Given the description of an element on the screen output the (x, y) to click on. 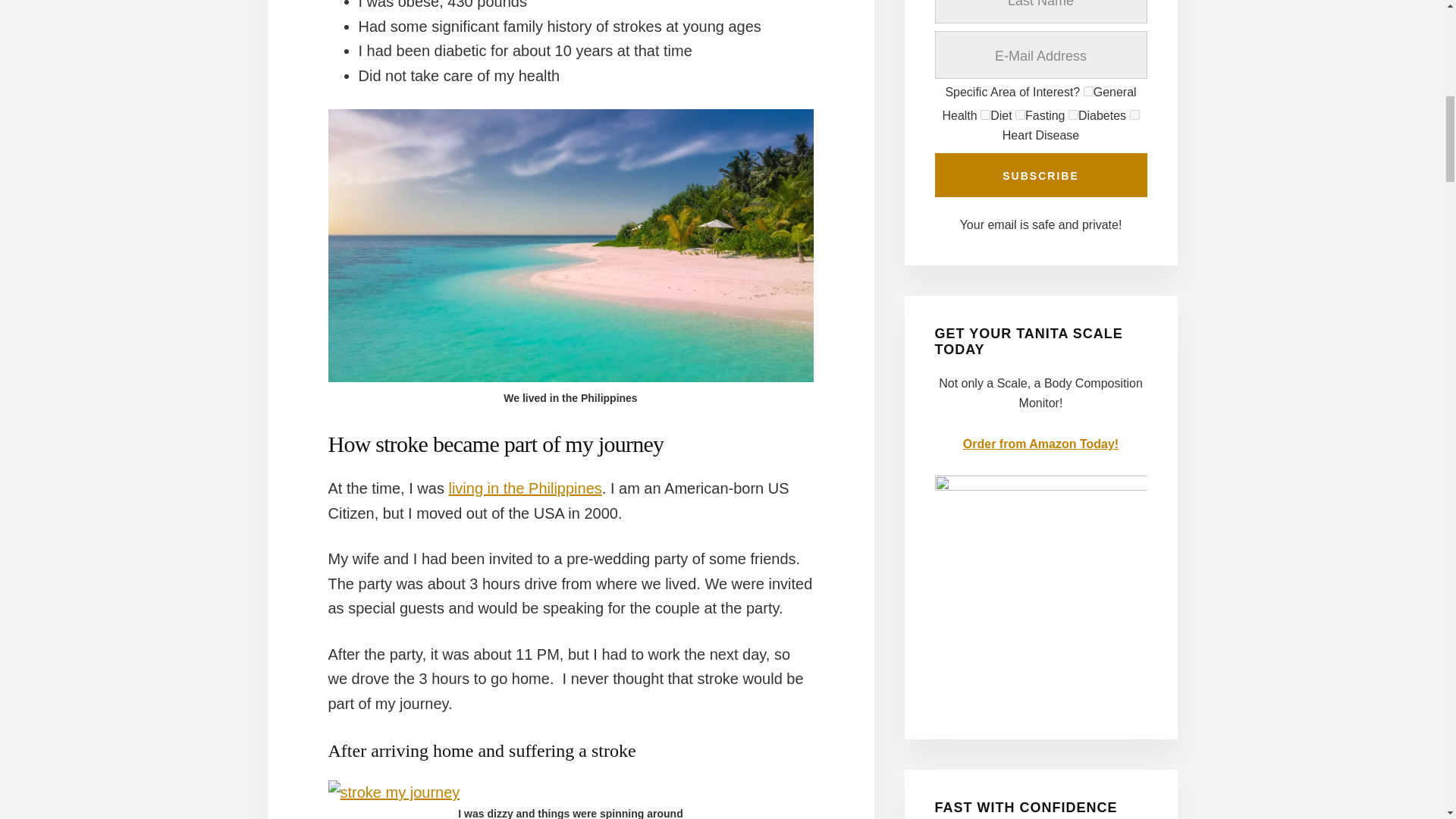
8 (1073, 114)
4 (1019, 114)
living in the Philippines (524, 487)
16 (1134, 114)
2 (984, 114)
Subscribe (1040, 175)
Subscribe (1040, 175)
1 (1088, 91)
Order from Amazon Today! (1040, 443)
